Given the description of an element on the screen output the (x, y) to click on. 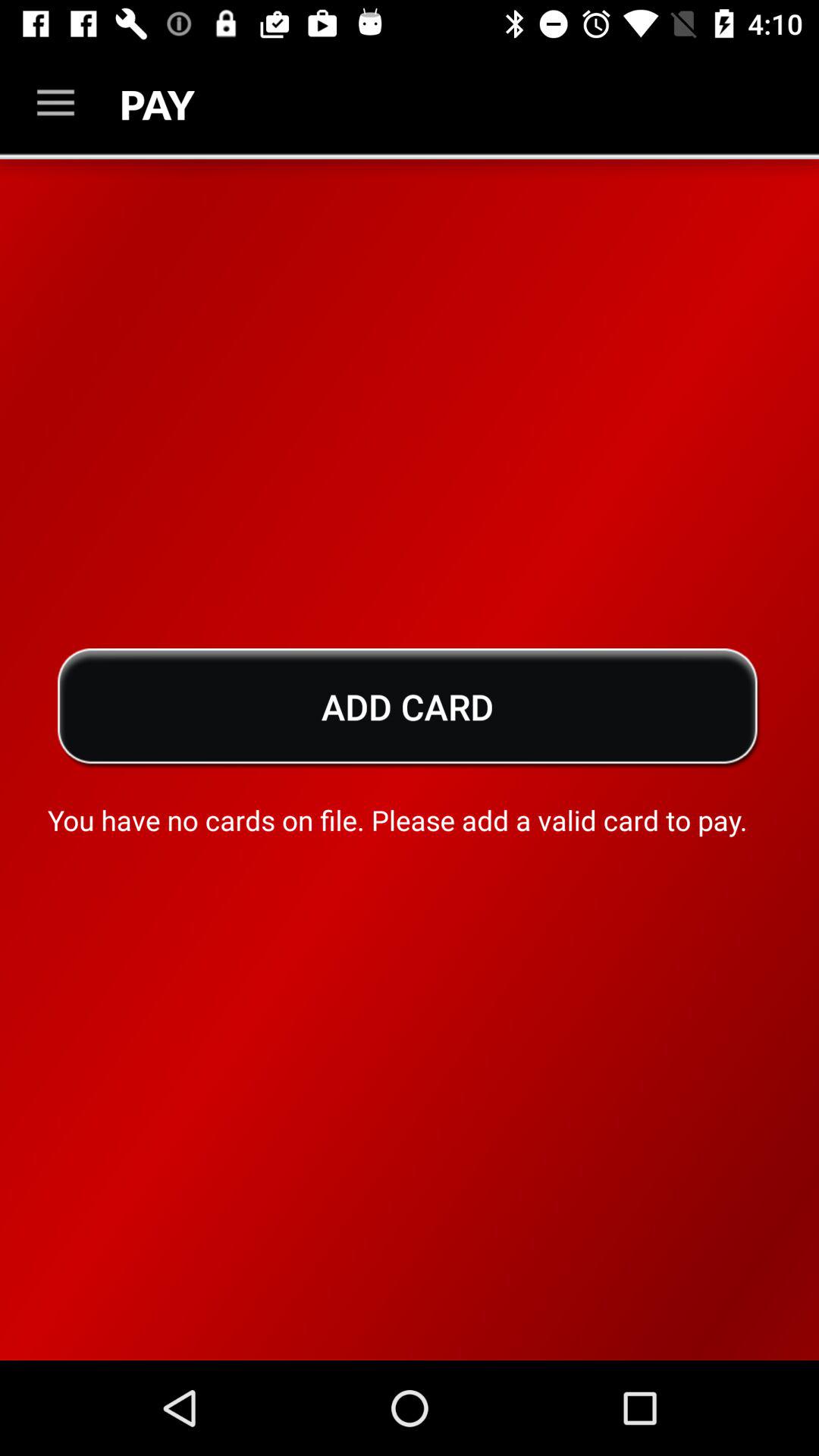
select app next to pay (55, 103)
